Given the description of an element on the screen output the (x, y) to click on. 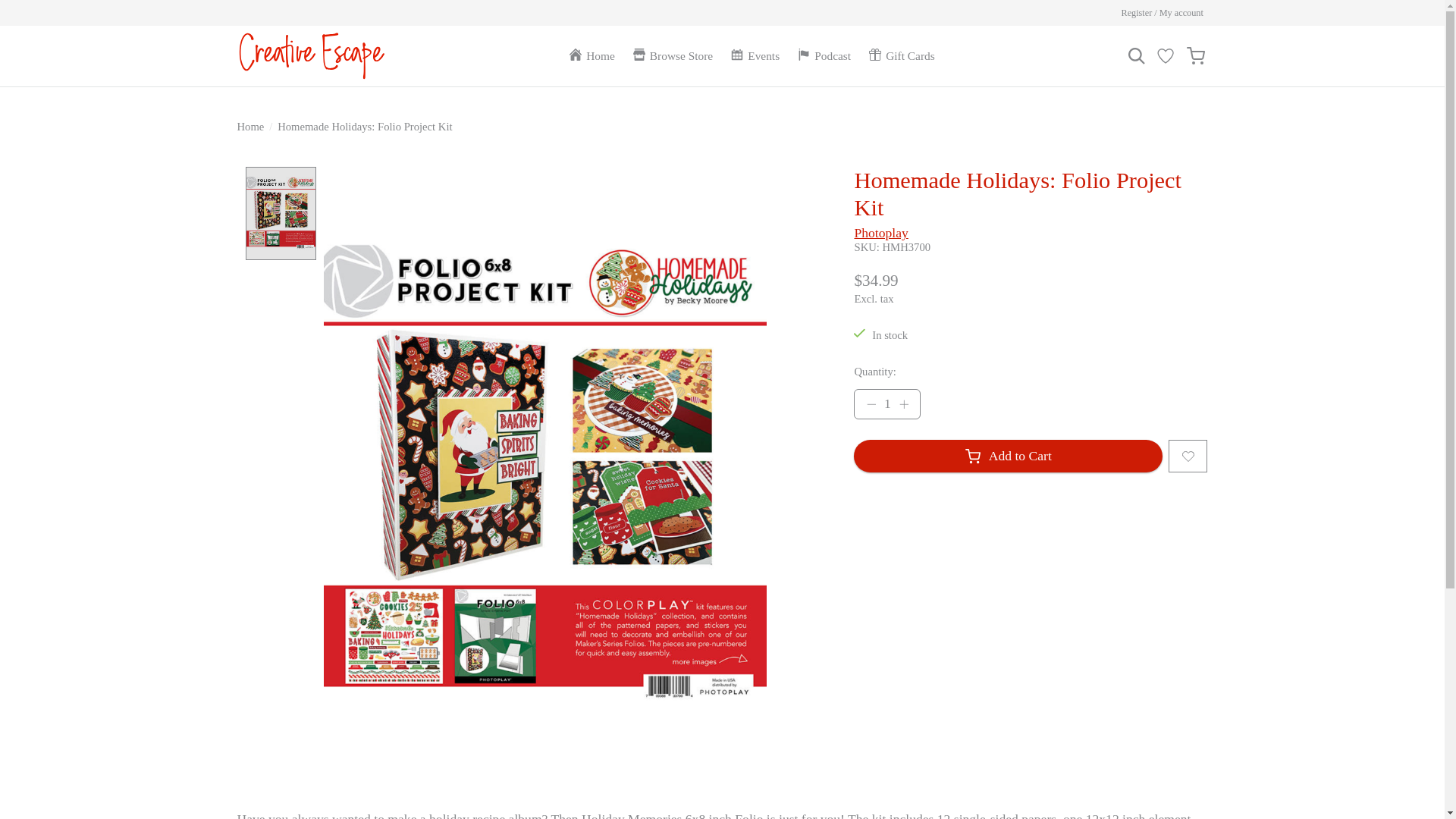
Gift Cards (901, 55)
Podcast (824, 55)
Events (754, 55)
Home (249, 125)
1 (886, 404)
Creative Escape (310, 55)
Add to Cart (1007, 455)
Home (592, 55)
Browse Store (673, 55)
Photoplay (880, 232)
